Given the description of an element on the screen output the (x, y) to click on. 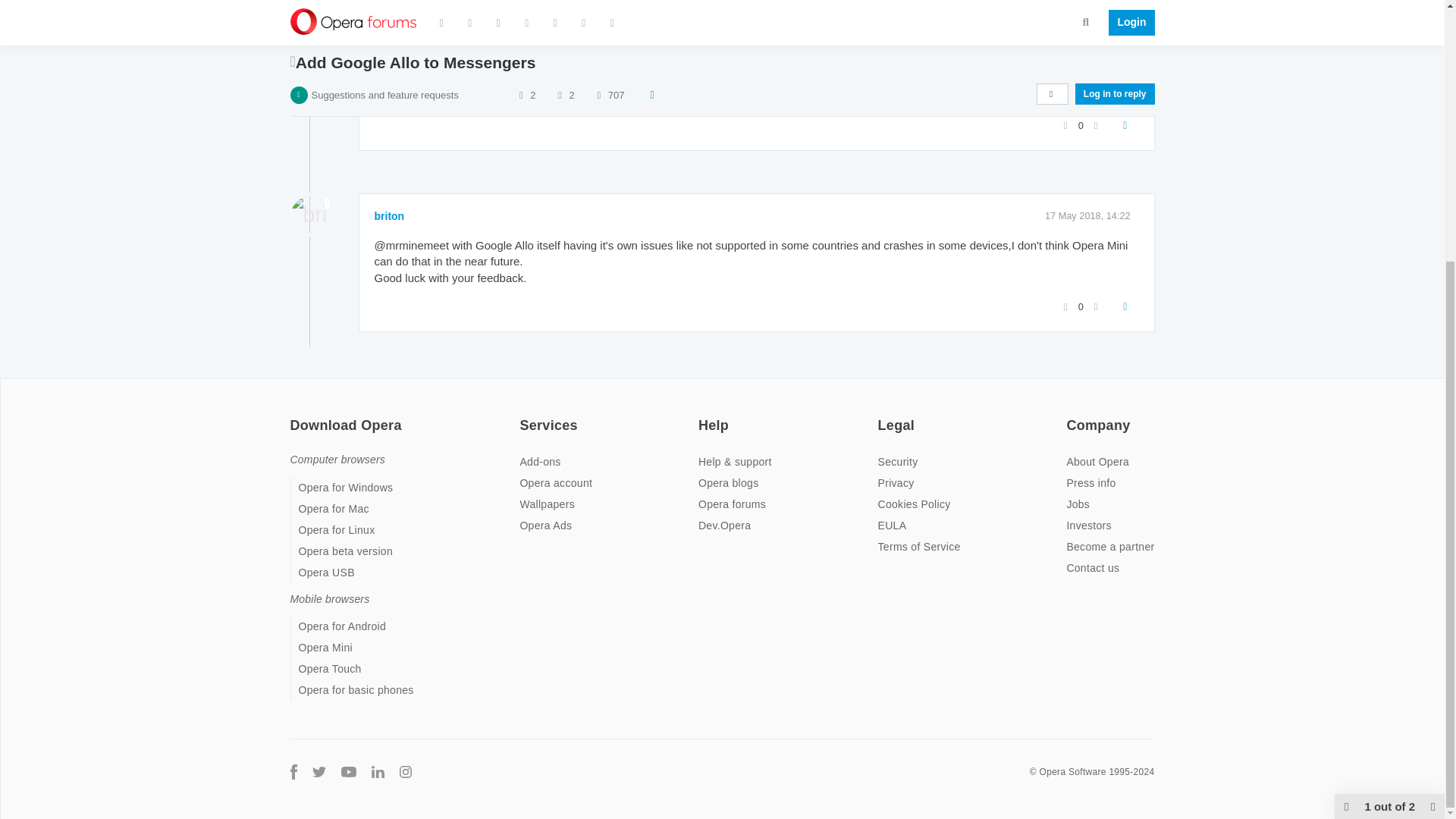
on (881, 415)
on (1070, 415)
on (523, 415)
on (293, 415)
on (702, 415)
